Given the description of an element on the screen output the (x, y) to click on. 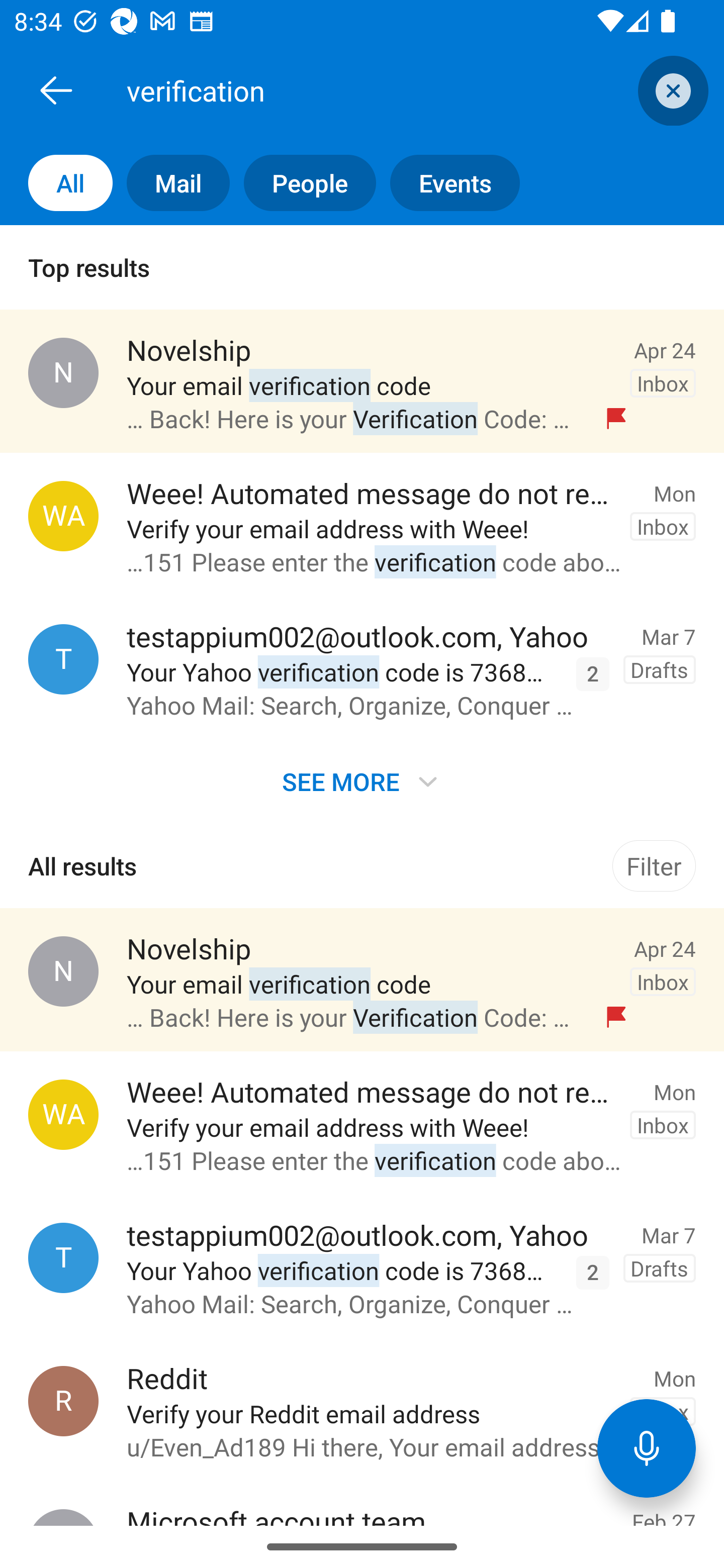
Back (55, 89)
verification (384, 89)
clear search (670, 90)
Mail (170, 183)
People (302, 183)
Events (447, 183)
Top results (362, 266)
SEE MORE See More (362, 780)
Filter (653, 866)
Voice Assistant (646, 1447)
